Given the description of an element on the screen output the (x, y) to click on. 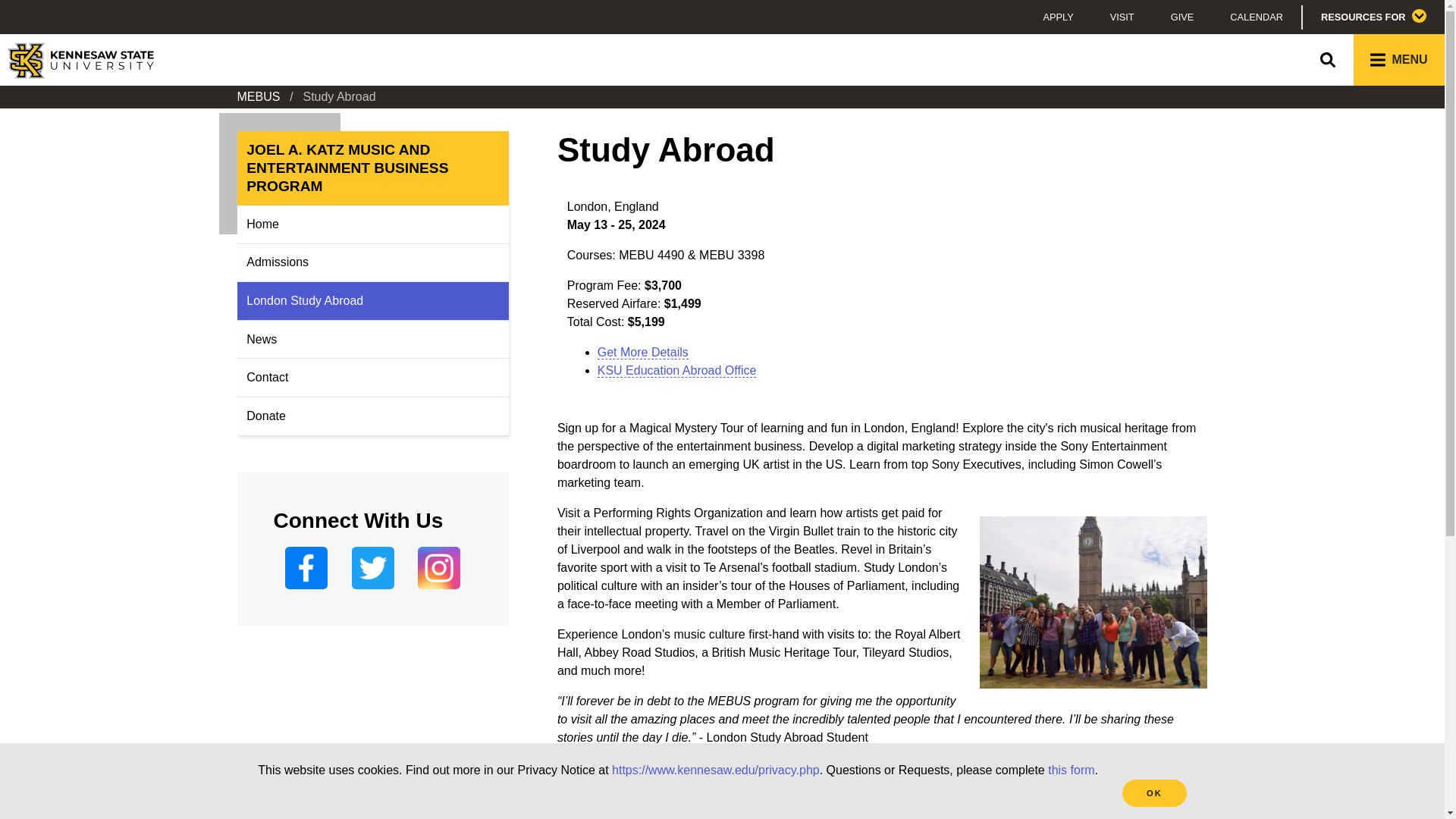
APPLY (1057, 17)
Donate (371, 415)
News (371, 339)
CALENDAR (1256, 17)
Contact (371, 377)
Admissions (371, 262)
London Study Abroad (371, 300)
Home (371, 224)
MEBUS (257, 96)
GIVE (1182, 17)
